Given the description of an element on the screen output the (x, y) to click on. 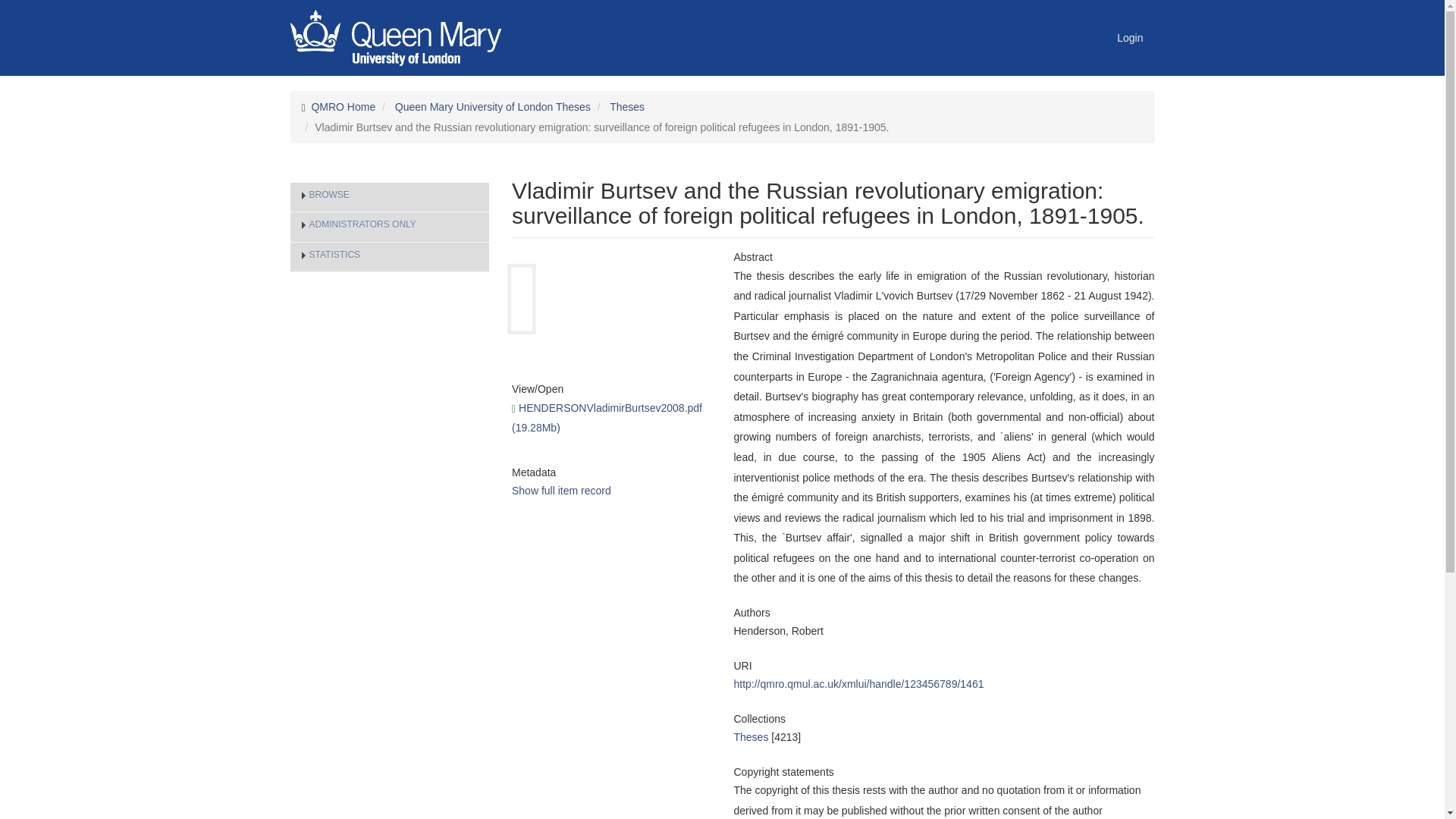
QMRO Home (343, 106)
Theses (750, 736)
Theses (627, 106)
Show full item record (561, 490)
Queen Mary University of London Theses (492, 106)
